Given the description of an element on the screen output the (x, y) to click on. 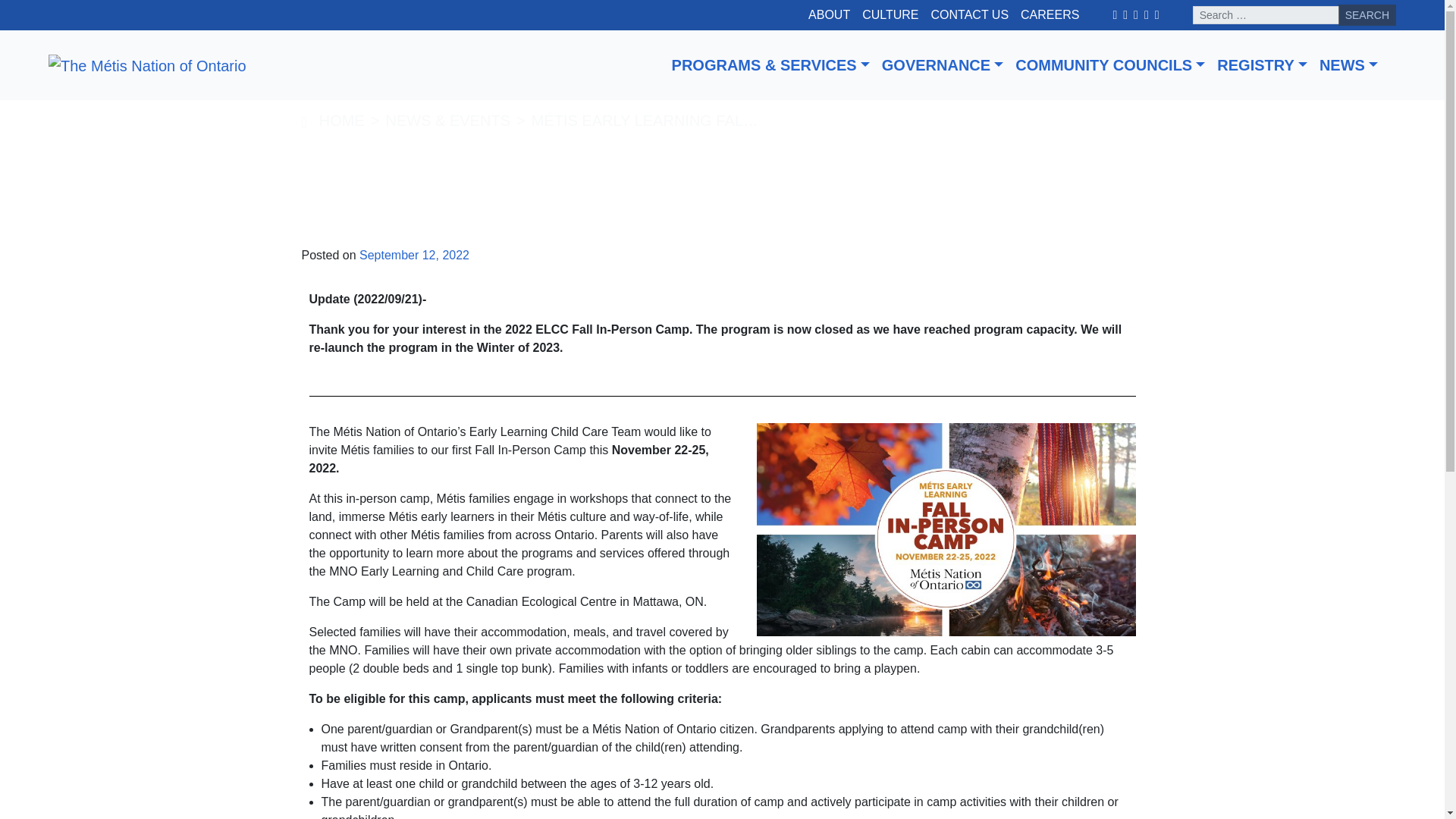
Careers (1049, 15)
Search (1367, 15)
ABOUT (829, 15)
GOVERNANCE (942, 64)
Governance (942, 64)
CULTURE (890, 15)
Search (1367, 15)
COMMUNITY COUNCILS (1110, 64)
About (829, 15)
REGISTRY (1262, 64)
